Given the description of an element on the screen output the (x, y) to click on. 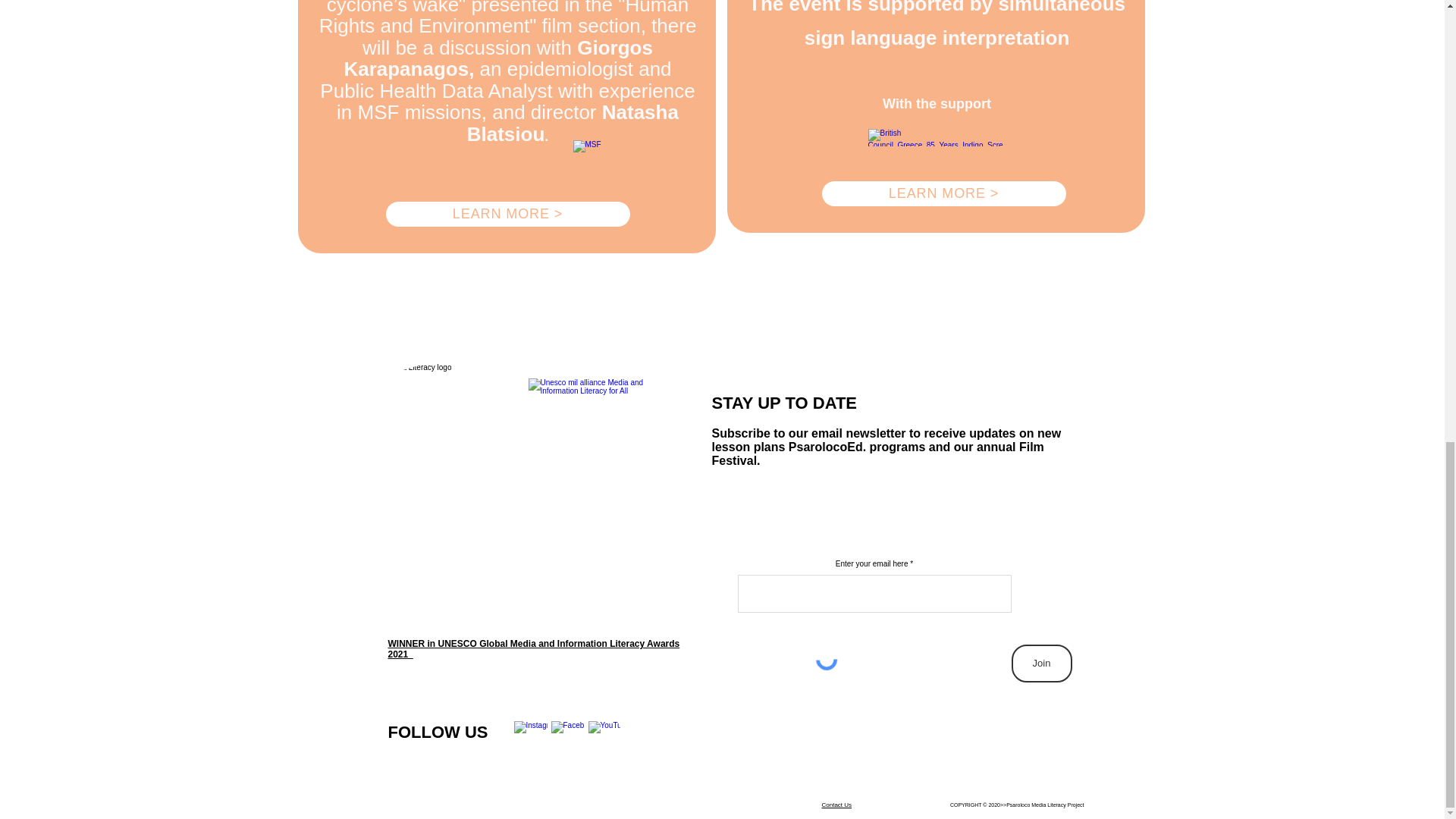
Join (1041, 663)
Contact Us (836, 804)
